Given the description of an element on the screen output the (x, y) to click on. 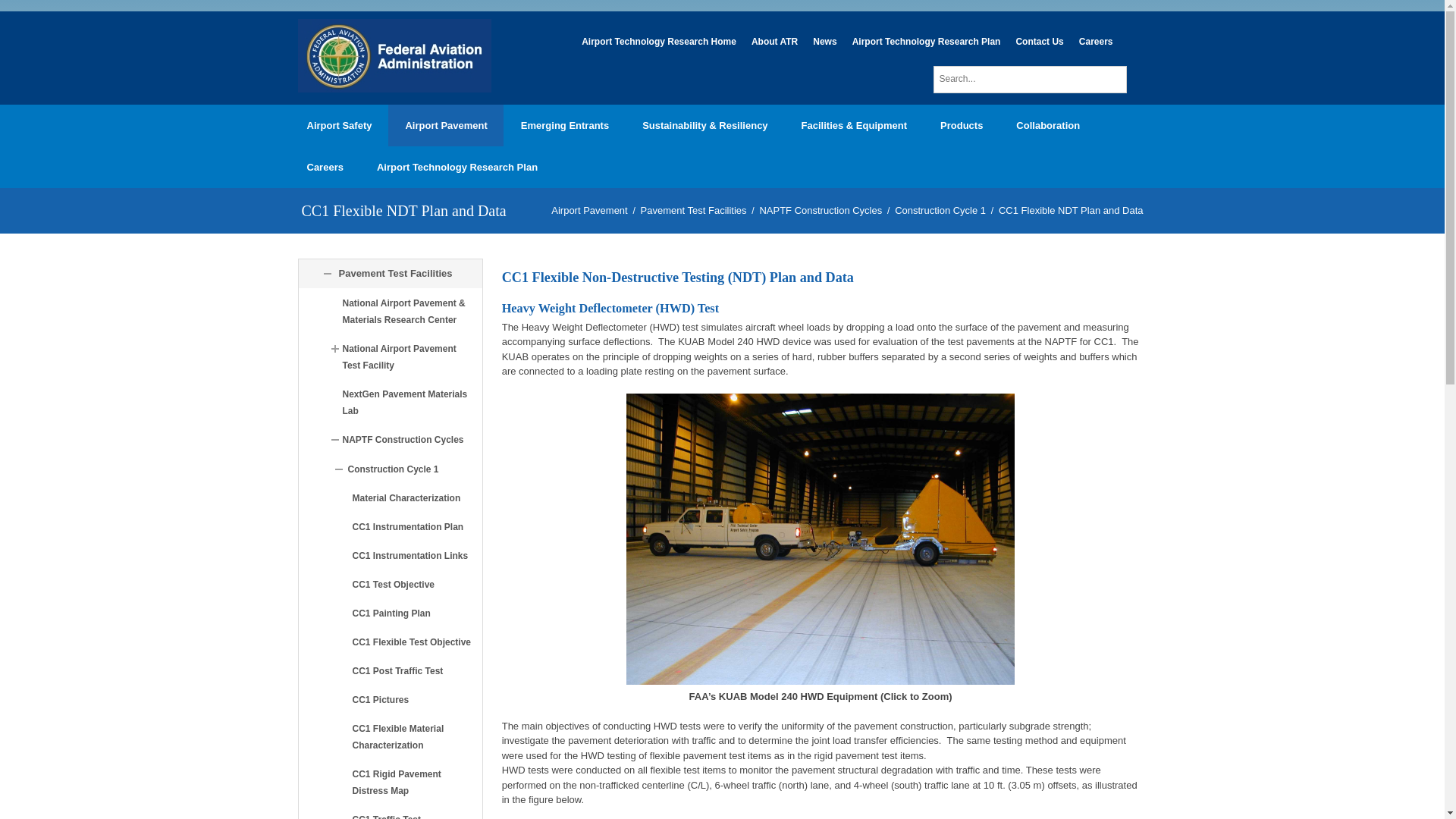
Careers (1096, 41)
Airport Pavement (445, 125)
Airport Technology Research Home (658, 41)
Airport Safety (338, 125)
News (824, 41)
About ATR (774, 41)
Airport Technology Research Plan (926, 41)
Contact Us (1038, 41)
